Given the description of an element on the screen output the (x, y) to click on. 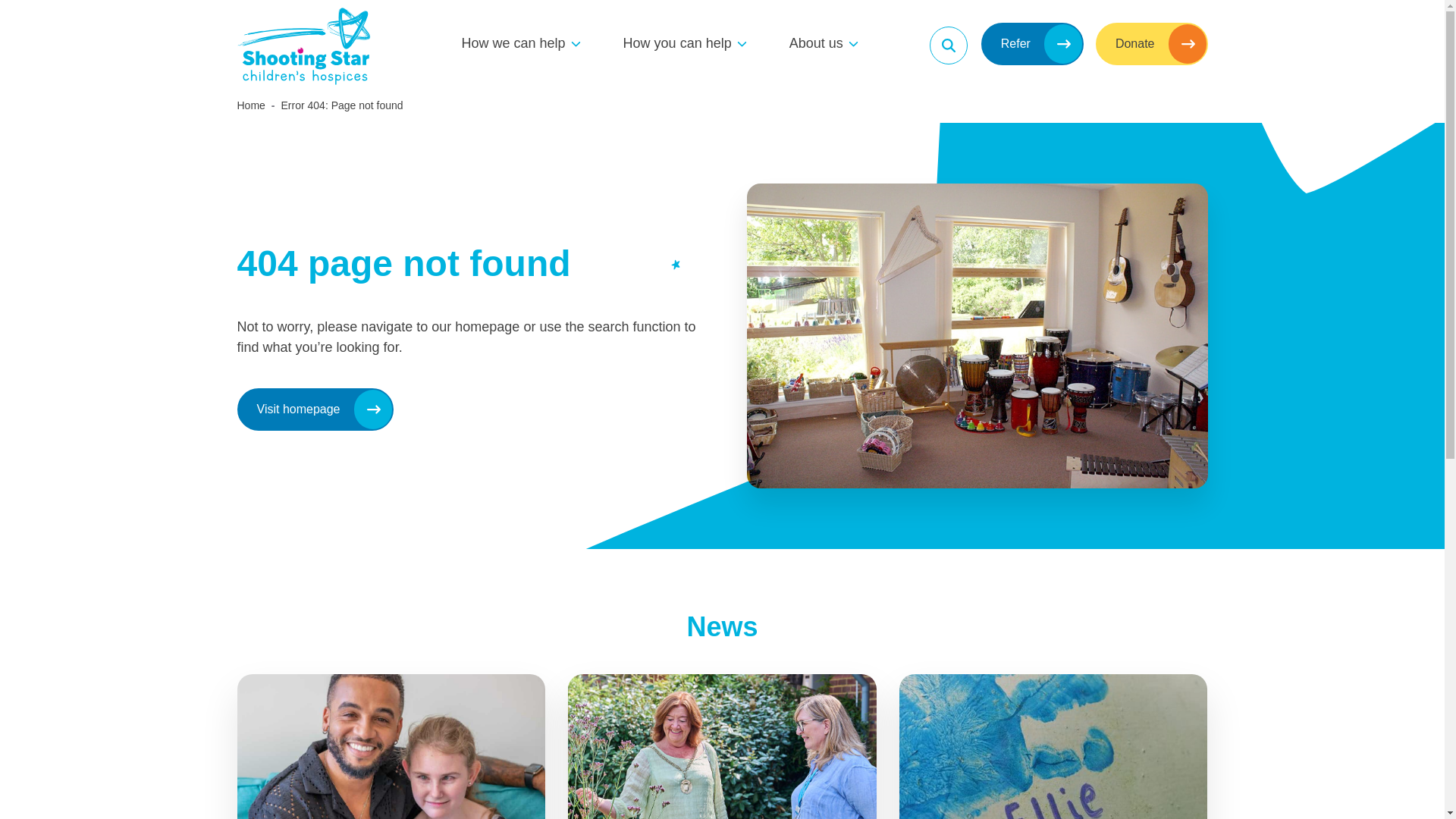
How you can help (677, 43)
How you can help (677, 43)
About us (816, 43)
How we can help (513, 43)
How we can help (513, 43)
